Given the description of an element on the screen output the (x, y) to click on. 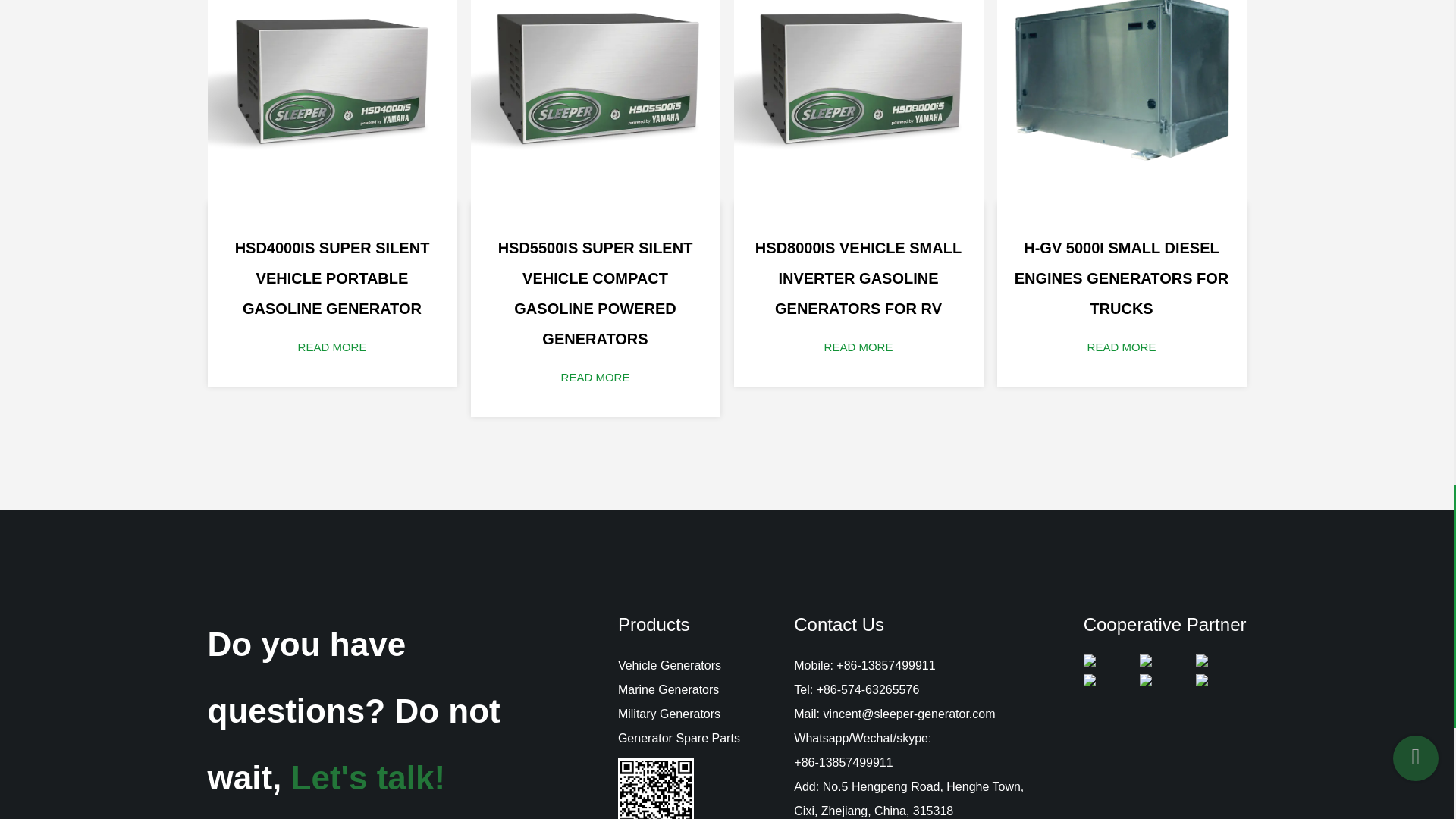
H-GV 5000i Small Diesel Engines Generators for Trucks (1120, 101)
HSD4000iS Super Silent Vehicle Portable Gasoline Generator (332, 101)
HSD8000iS Vehicle Small Inverter Gasoline Generators for rv (858, 101)
